Given the description of an element on the screen output the (x, y) to click on. 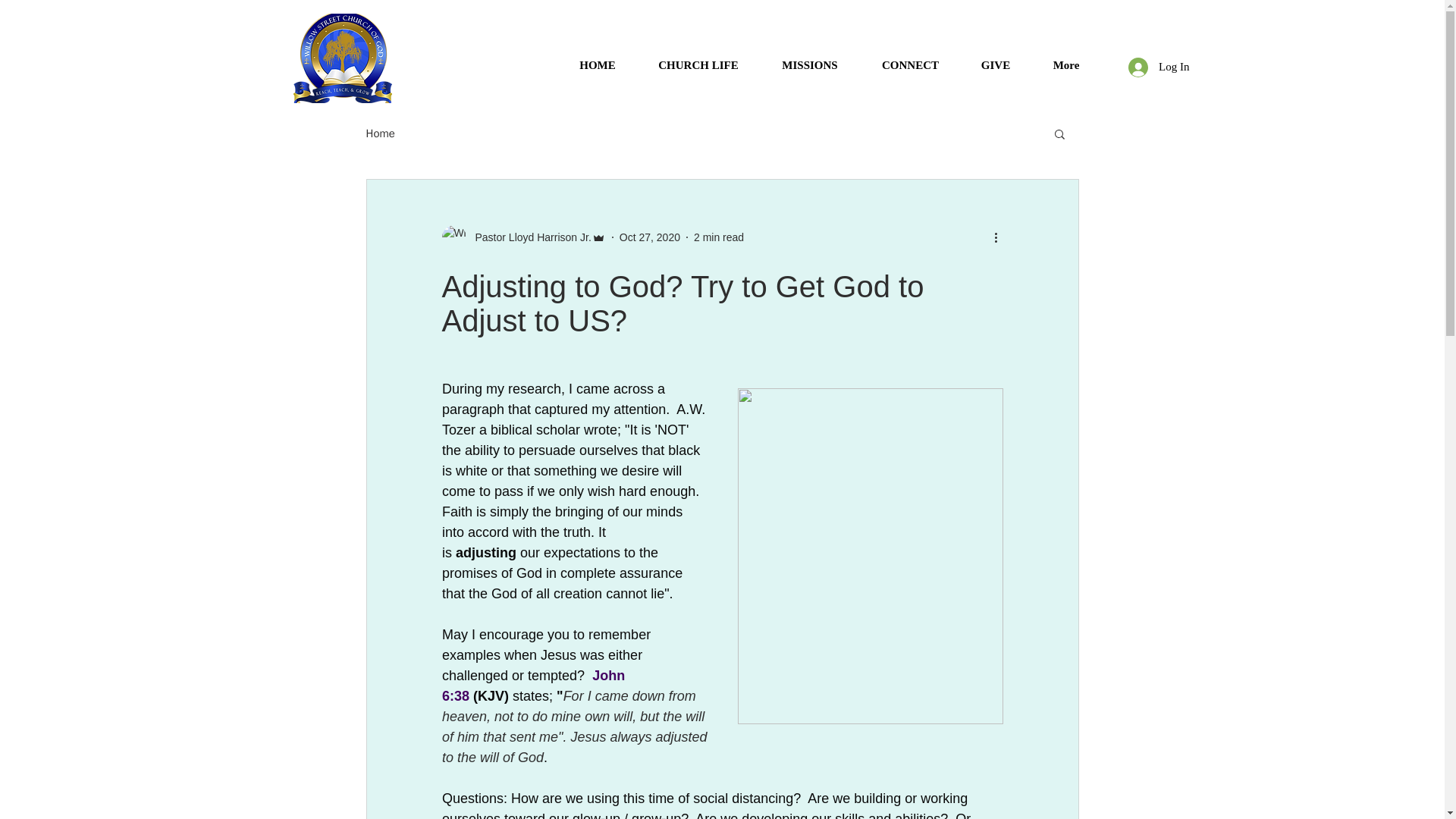
HOME (597, 58)
CONNECT (909, 58)
GIVE (994, 58)
CHURCH LIFE (697, 58)
Oct 27, 2020 (649, 236)
Home (379, 133)
Log In (1158, 67)
2 min read (719, 236)
MISSIONS (810, 58)
Pastor Lloyd Harrison Jr. (523, 237)
Pastor Lloyd Harrison Jr. (528, 236)
